Given the description of an element on the screen output the (x, y) to click on. 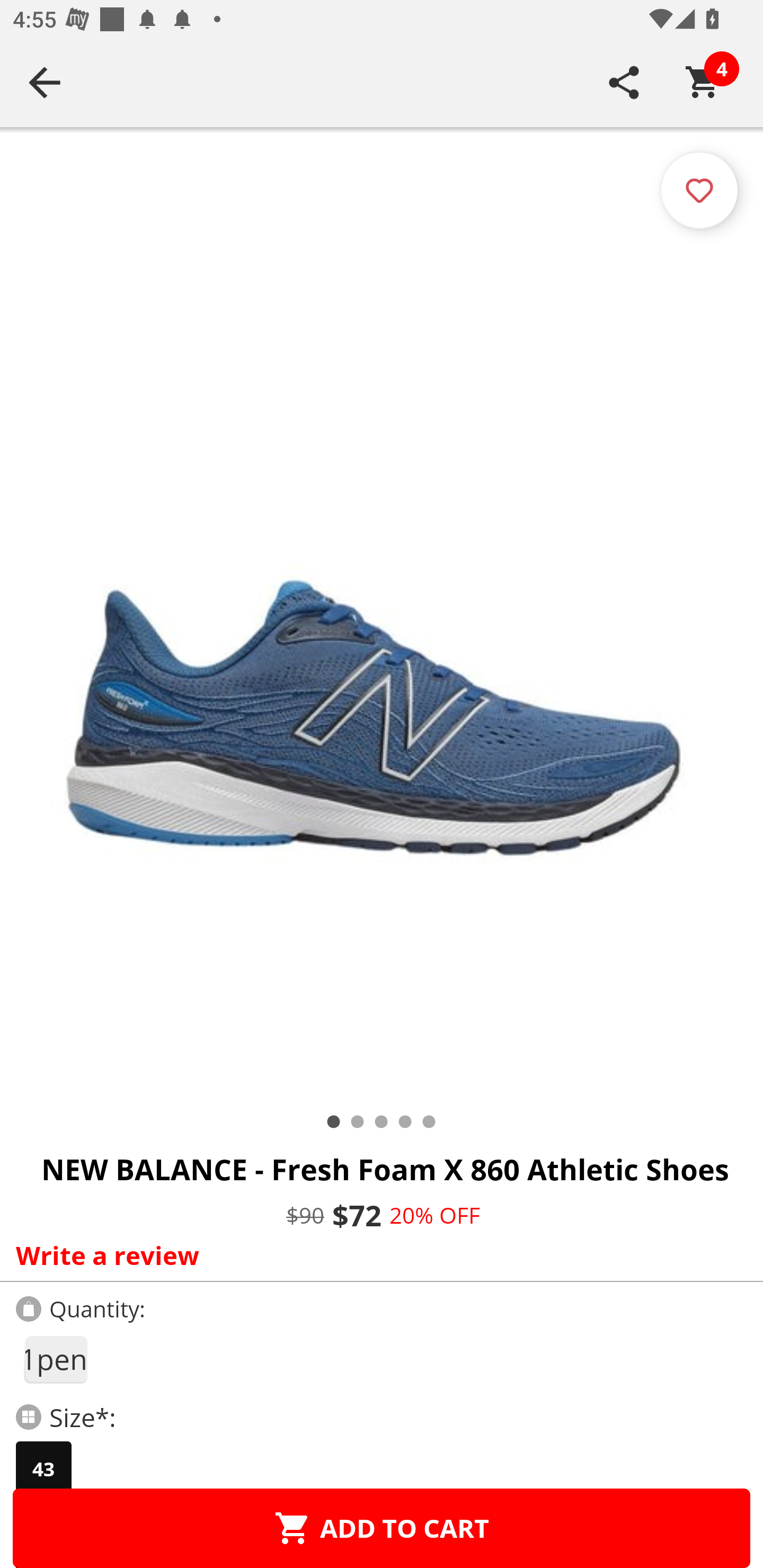
Navigate up (44, 82)
SHARE (623, 82)
Cart (703, 81)
Write a review (377, 1255)
1pen (55, 1358)
43 (43, 1468)
ADD TO CART (381, 1528)
